Given the description of an element on the screen output the (x, y) to click on. 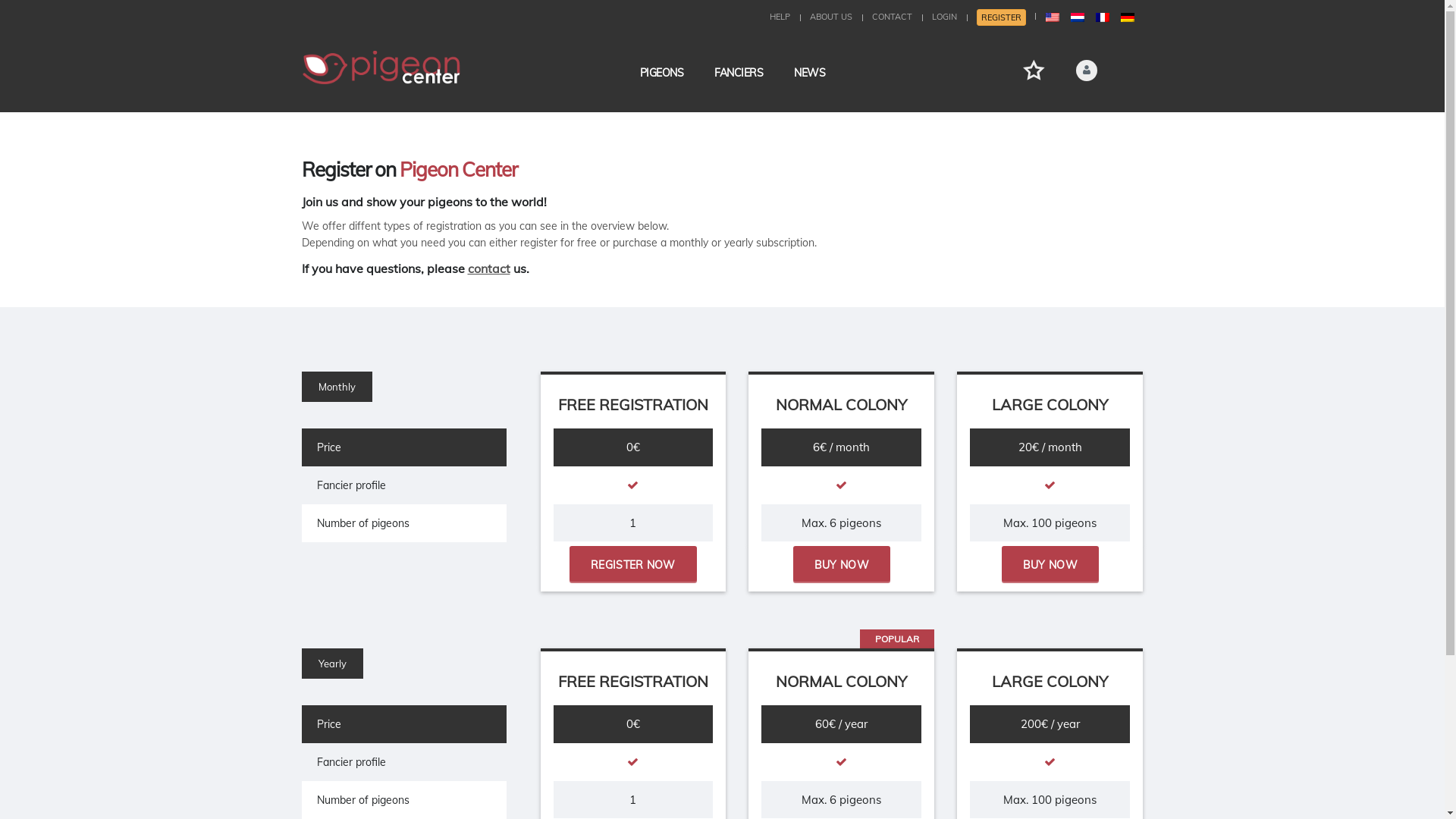
FANCIERS Element type: text (738, 72)
REGISTER Element type: text (1001, 17)
Login Element type: text (1037, 280)
REGISTER NOW Element type: text (632, 563)
Watch compared Element type: hover (1033, 69)
PIGEONS Element type: text (662, 72)
CONTACT Element type: text (892, 16)
BUY NOW Element type: text (841, 563)
NEWS Element type: text (809, 72)
ABOUT US Element type: text (830, 16)
BUY NOW Element type: text (1049, 563)
contact Element type: text (488, 268)
Monthly Element type: text (336, 386)
HELP Element type: text (778, 16)
Home Element type: hover (381, 67)
Yearly Element type: text (332, 663)
LOGIN Element type: text (943, 16)
